Given the description of an element on the screen output the (x, y) to click on. 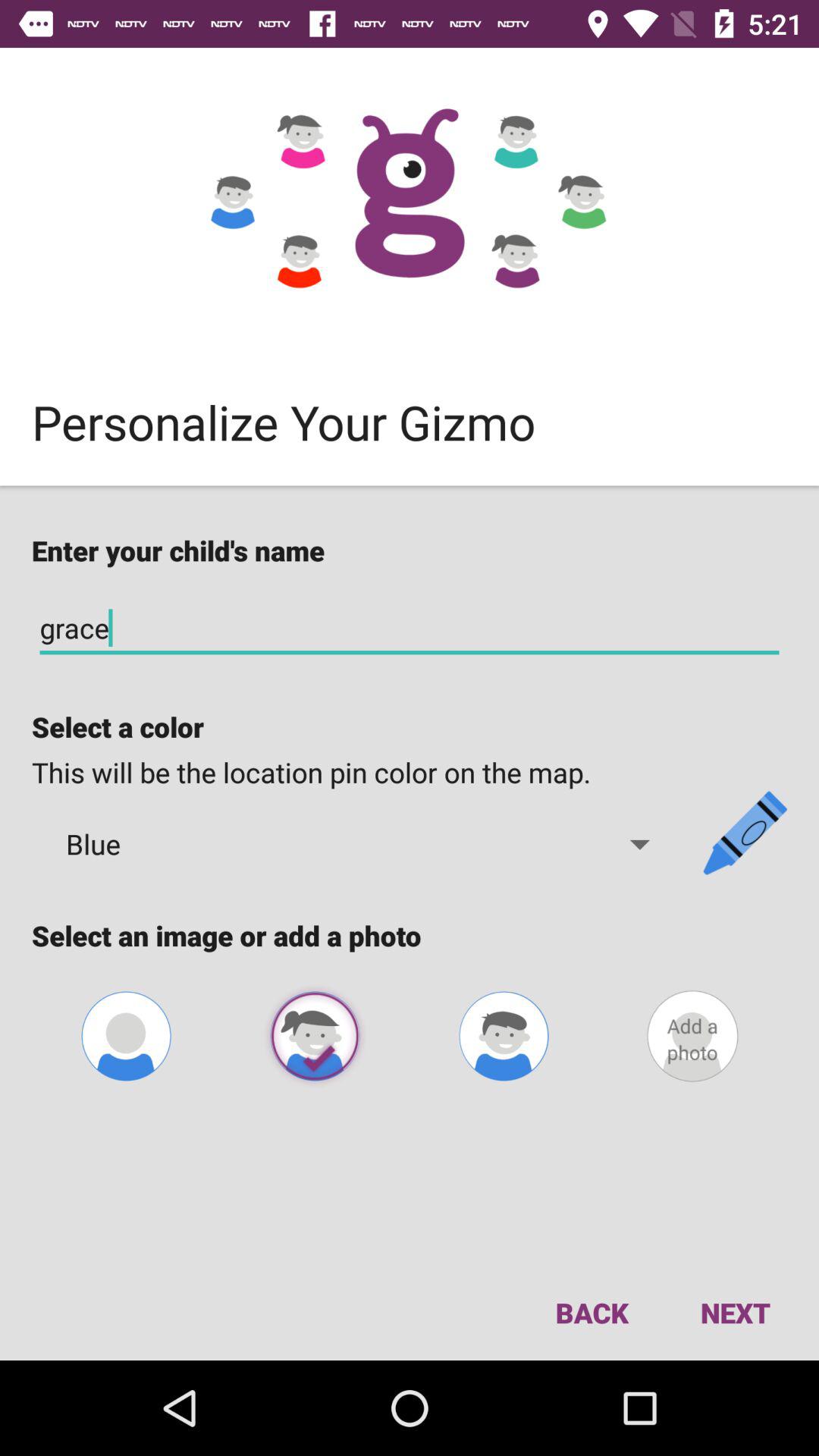
conf (126, 1036)
